Given the description of an element on the screen output the (x, y) to click on. 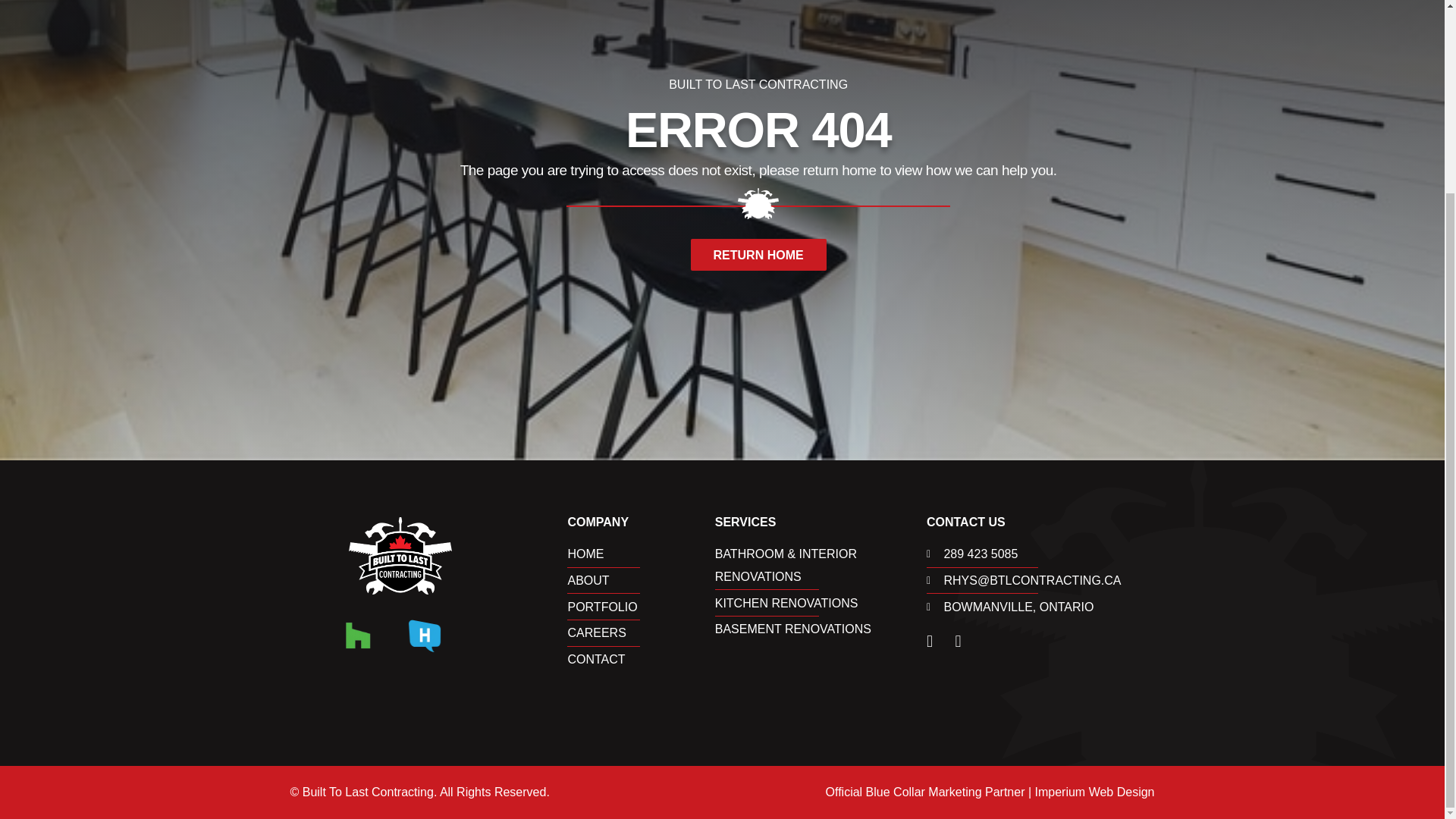
KITCHEN RENOVATIONS (820, 603)
BASEMENT RENOVATIONS (820, 629)
Official Blue Collar Marketing Partner (925, 791)
CONTACT (640, 659)
RETURN HOME (758, 255)
BOWMANVILLE, ONTARIO (1040, 607)
PORTFOLIO (640, 607)
CAREERS (640, 632)
289 423 5085 (1040, 553)
HOME (640, 553)
ABOUT (640, 580)
